Given the description of an element on the screen output the (x, y) to click on. 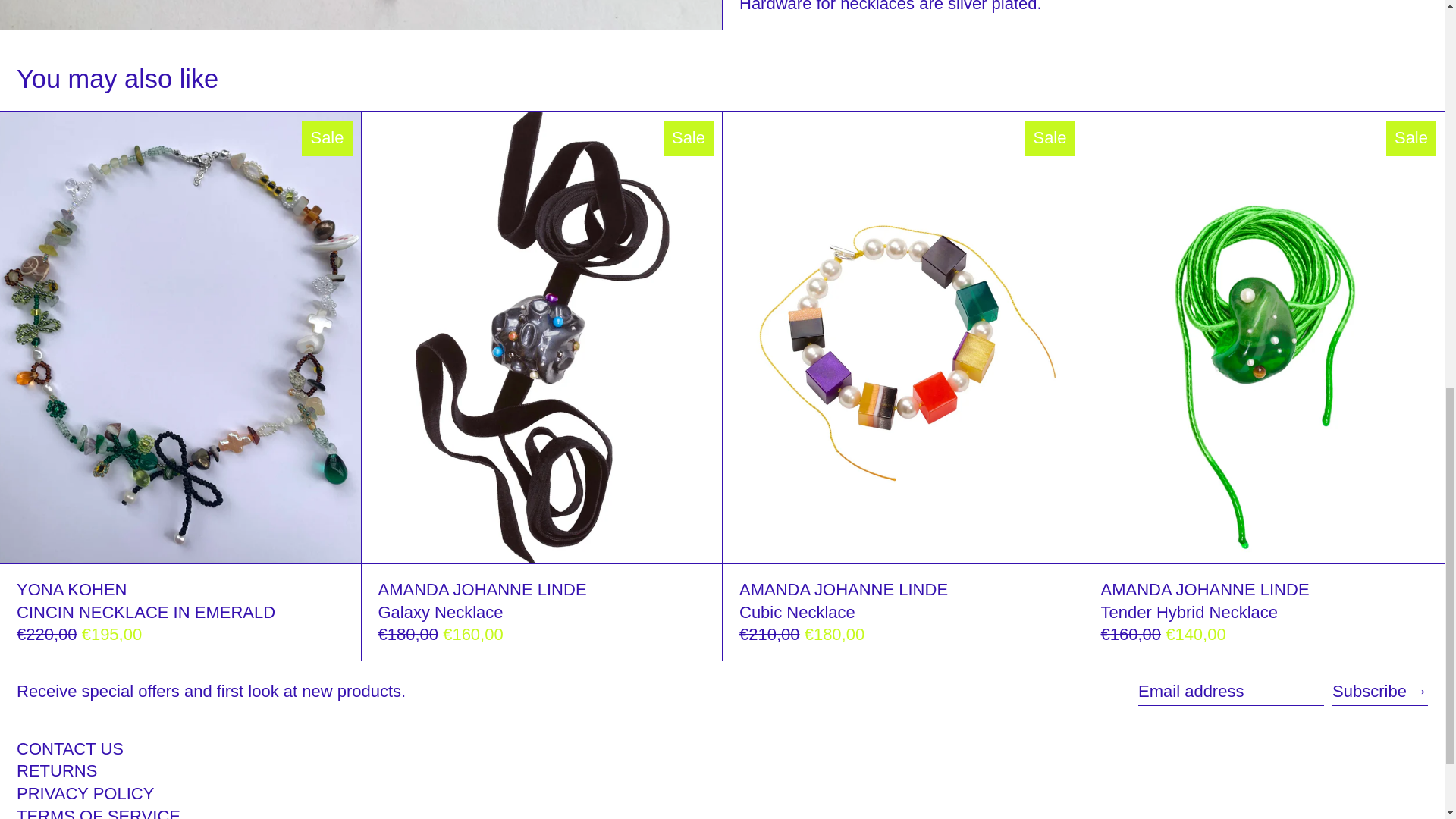
PRIVACY POLICY (85, 793)
CONTACT US (69, 748)
TERMS OF SERVICE (98, 812)
Subscribe (1380, 691)
RETURNS (56, 770)
